Given the description of an element on the screen output the (x, y) to click on. 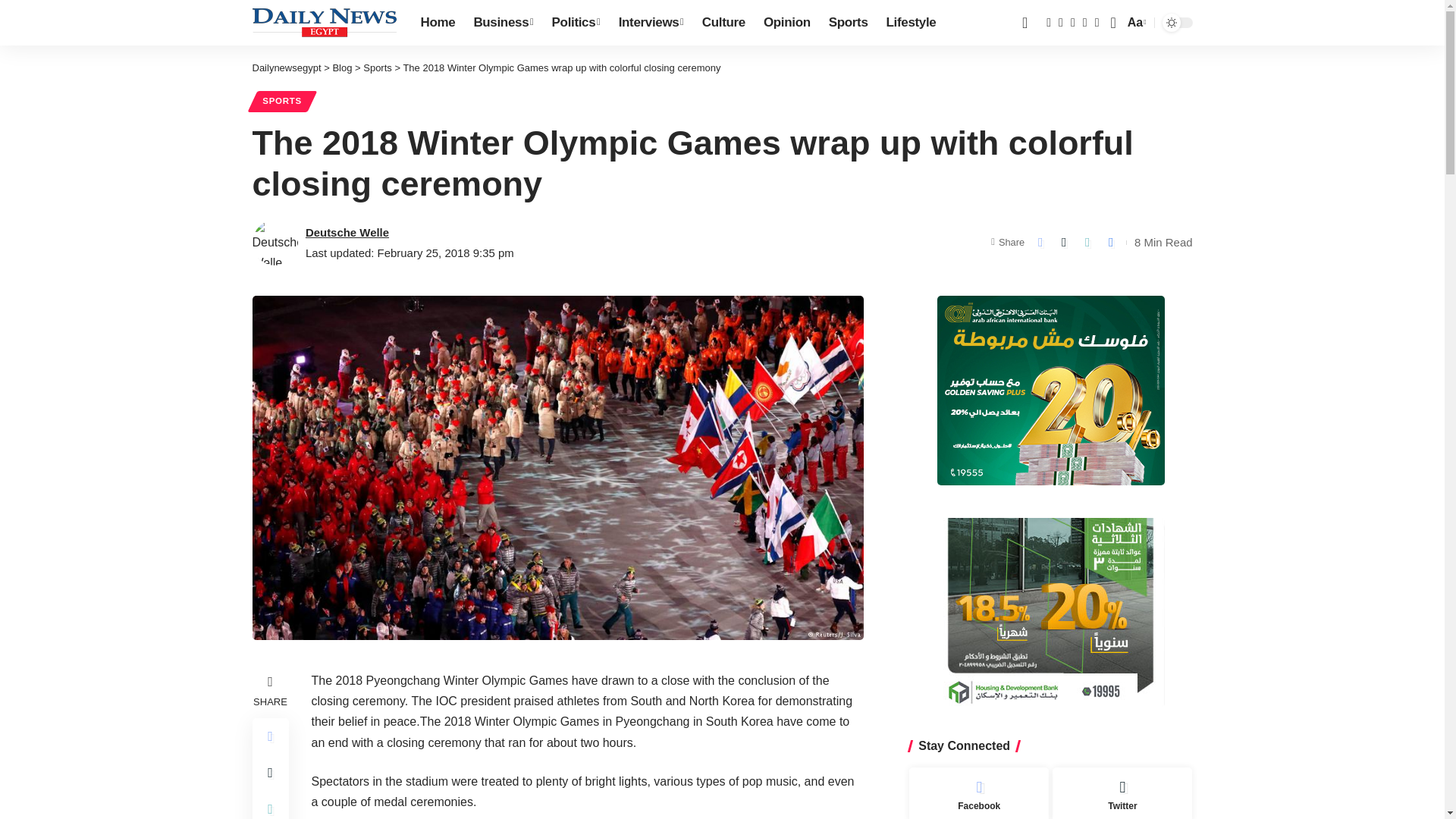
Interviews (651, 22)
Home (437, 22)
Dailynewsegypt (323, 22)
Business (502, 22)
Culture (723, 22)
Opinion (786, 22)
Politics (576, 22)
